Given the description of an element on the screen output the (x, y) to click on. 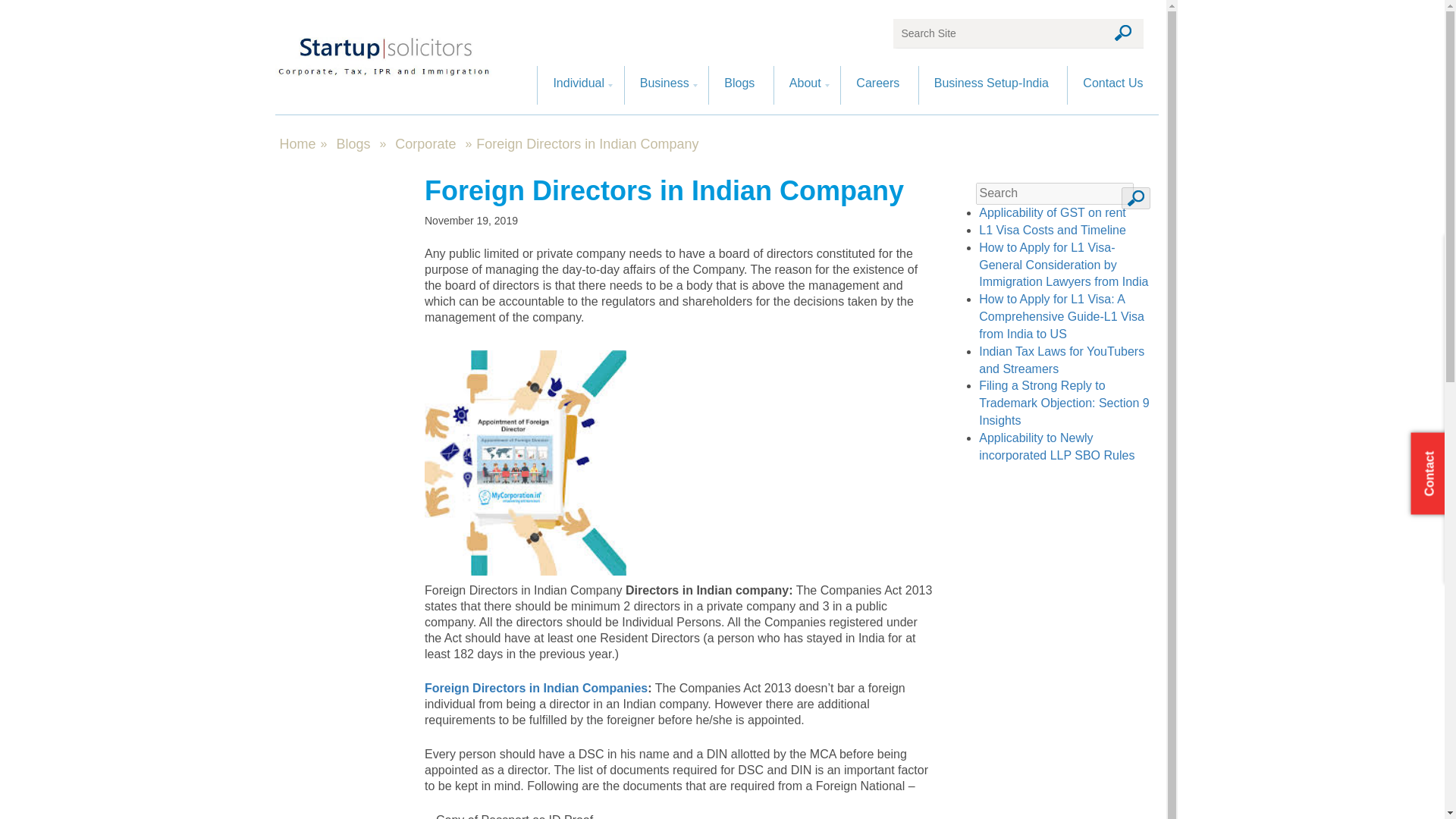
About (804, 84)
Blogs (738, 84)
Go to Blogs. (352, 142)
Go to the Corporate category archives. (425, 142)
Go to Home (297, 143)
Individual (578, 84)
Careers (877, 84)
Business (664, 84)
